Given the description of an element on the screen output the (x, y) to click on. 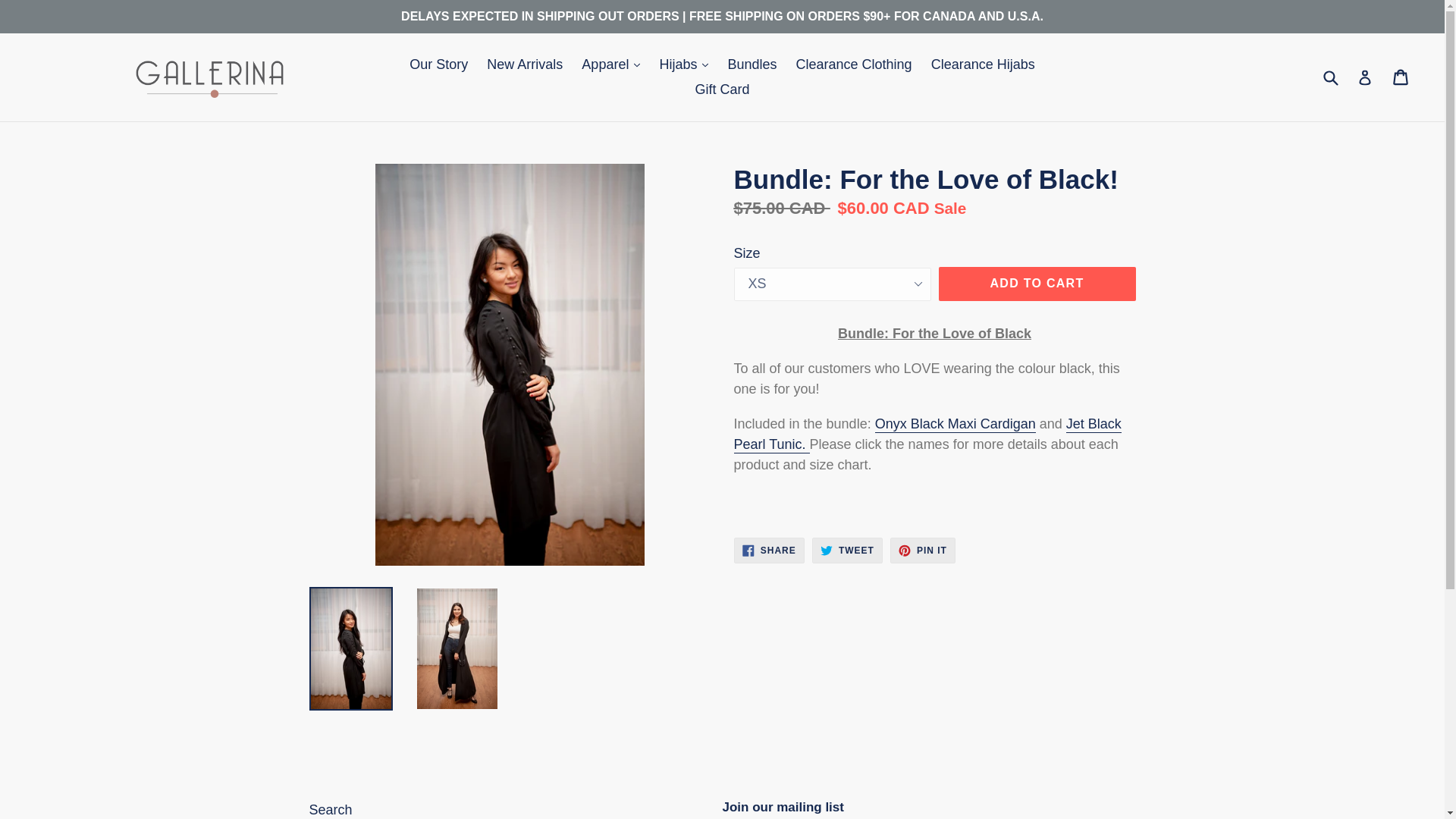
Clearance Hijabs (982, 64)
Our Story (438, 64)
Tweet on Twitter (847, 550)
Bundles (751, 64)
Gift Card (722, 89)
Pin on Pinterest (922, 550)
Share on Facebook (769, 550)
New Arrivals (524, 64)
Clearance Clothing (854, 64)
